Given the description of an element on the screen output the (x, y) to click on. 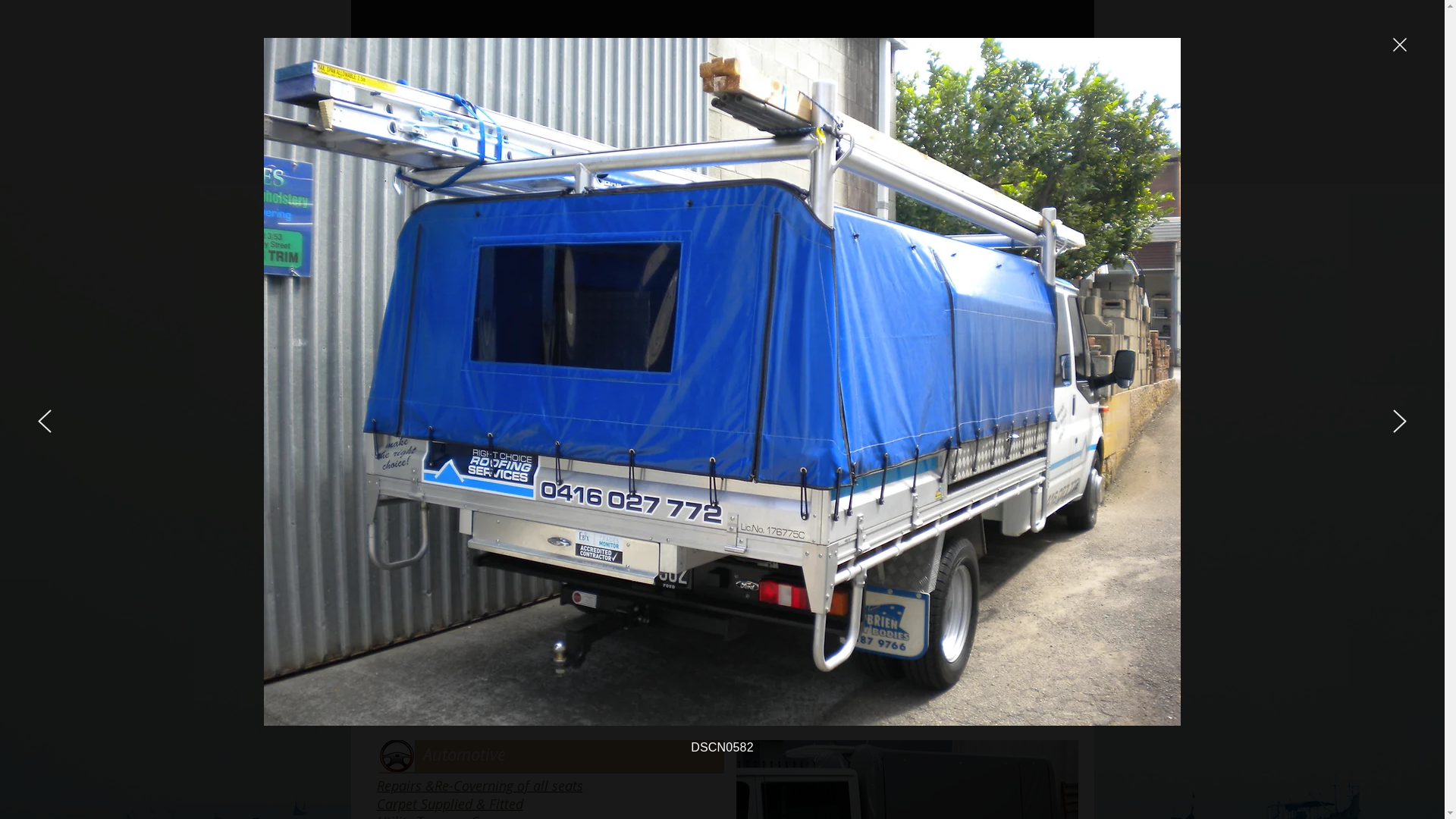
logo.jpg Element type: hover (396, 89)
HOME Element type: text (550, 115)
Cockpit Covers Element type: text (420, 633)
Bimini Tops Element type: text (411, 580)
CONTACT Element type: text (1018, 115)
Log In Element type: text (1016, 56)
Boat Covers Element type: text (412, 561)
Marine Camping/Cockpit/Clears Element type: text (822, 115)
Marine Tops/Upholstery/Covers Element type: text (658, 115)
Repairs &Re-Coverning of all seats Element type: text (479, 785)
Boat Upholstery Element type: text (424, 614)
0 Element type: text (1080, 56)
AUTOMOTIVE Element type: text (946, 115)
Canopies & Clears Element type: text (431, 597)
Carpet Supplied & Fitted Element type: text (449, 803)
Shop Element type: text (1072, 115)
